Given the description of an element on the screen output the (x, y) to click on. 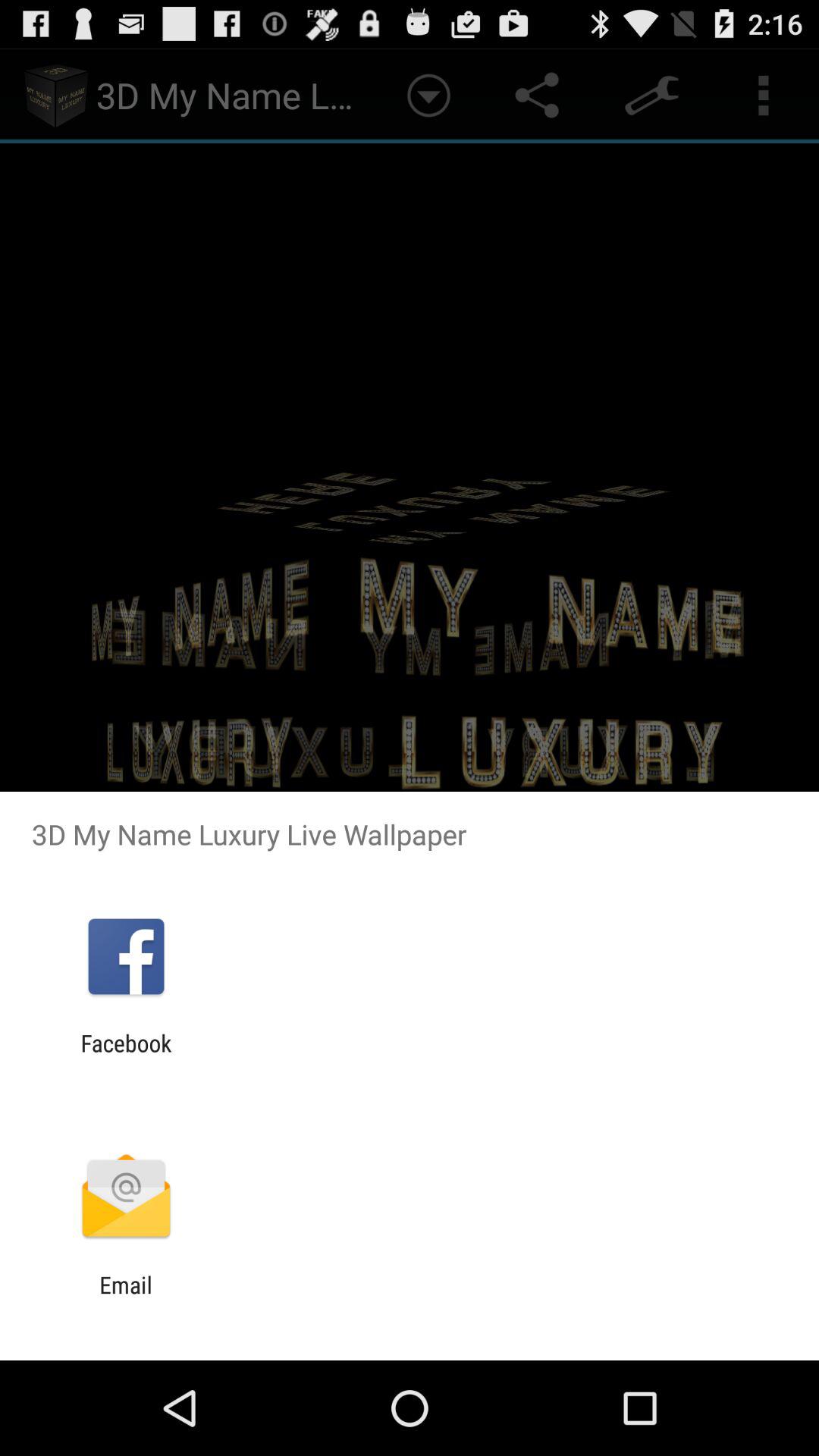
press the email icon (125, 1298)
